Given the description of an element on the screen output the (x, y) to click on. 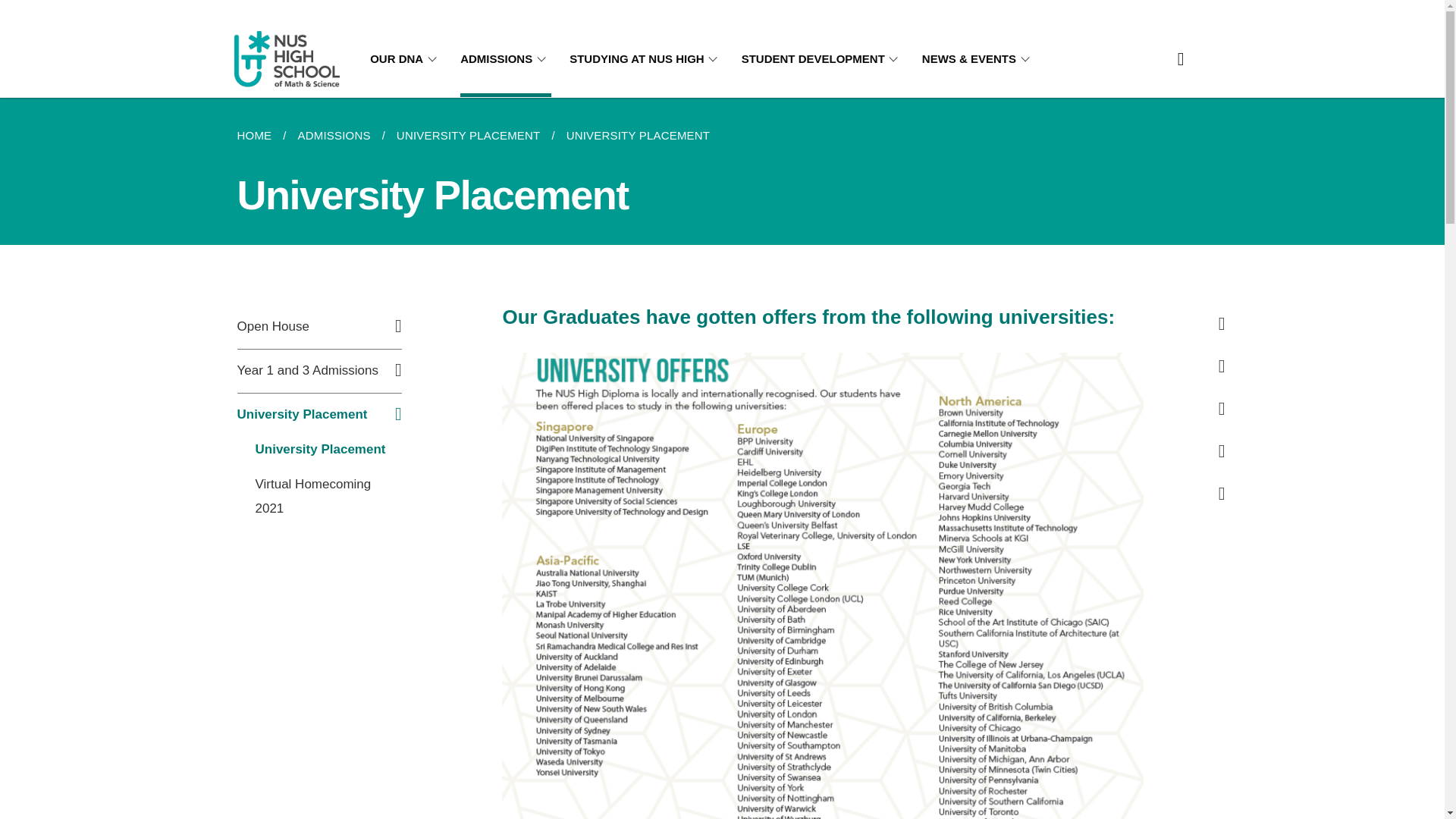
UNIVERSITY PLACEMENT (468, 135)
UNIVERSITY PLACEMENT (638, 135)
ADMISSIONS (333, 135)
OUR DNA (405, 59)
STUDENT DEVELOPMENT (822, 59)
ADMISSIONS (505, 59)
STUDYING AT NUS HIGH (646, 59)
HOME (258, 135)
